Given the description of an element on the screen output the (x, y) to click on. 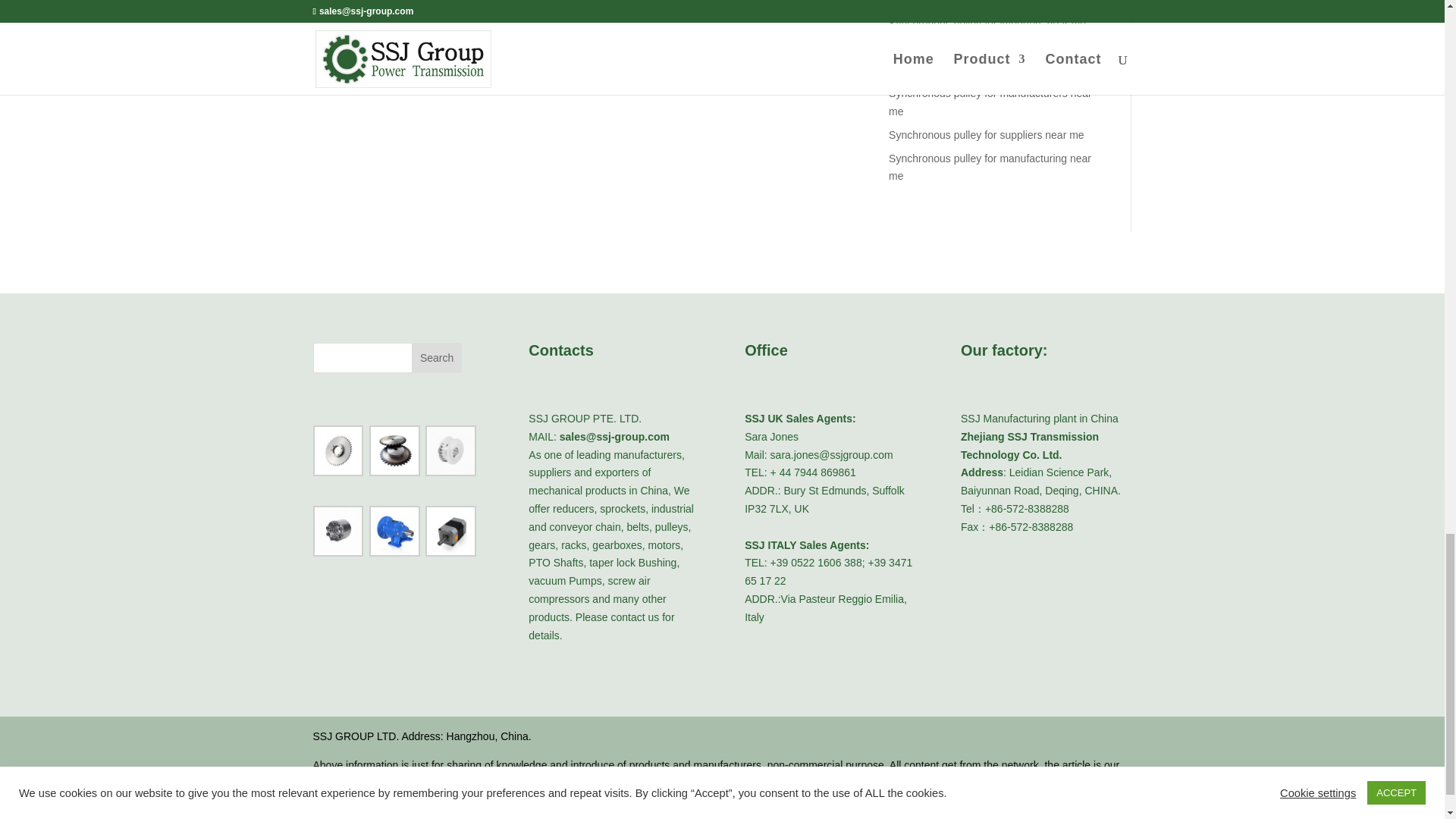
Search (436, 358)
